Given the description of an element on the screen output the (x, y) to click on. 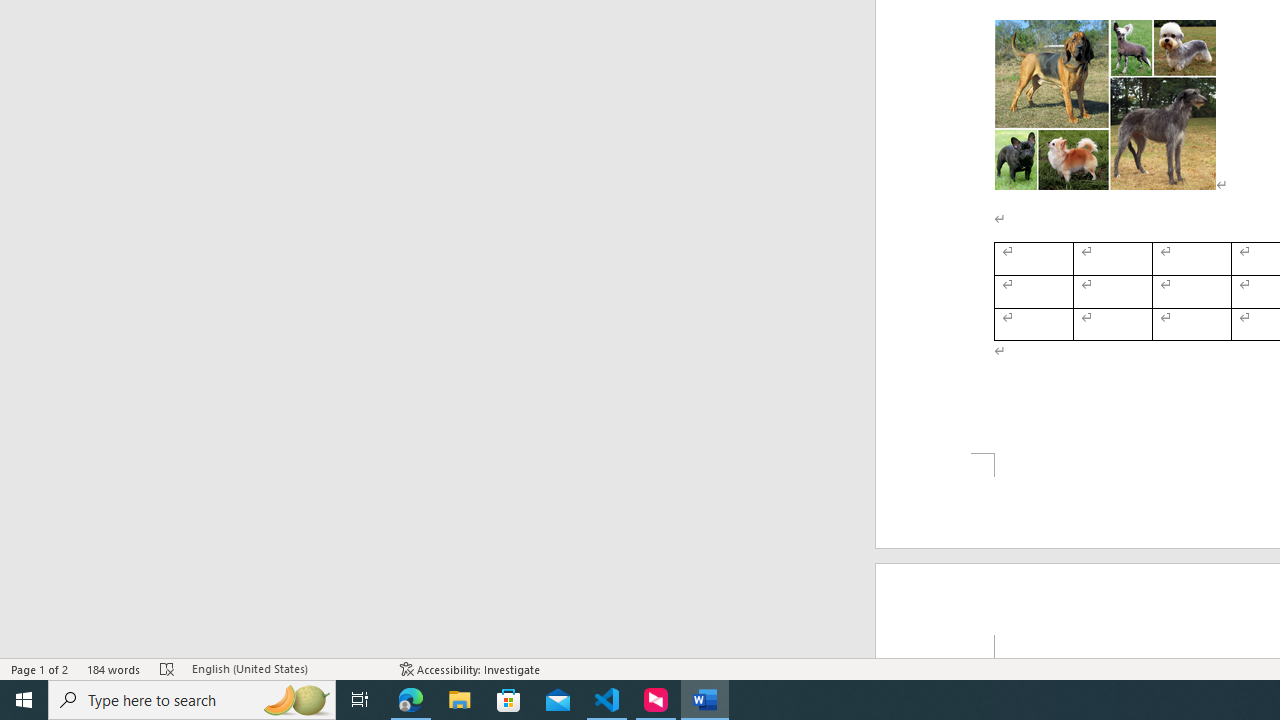
Spelling and Grammar Check Errors (168, 668)
Page Number Page 1 of 2 (39, 668)
Morphological variation in six dogs (1105, 105)
Word Count 184 words (113, 668)
